Given the description of an element on the screen output the (x, y) to click on. 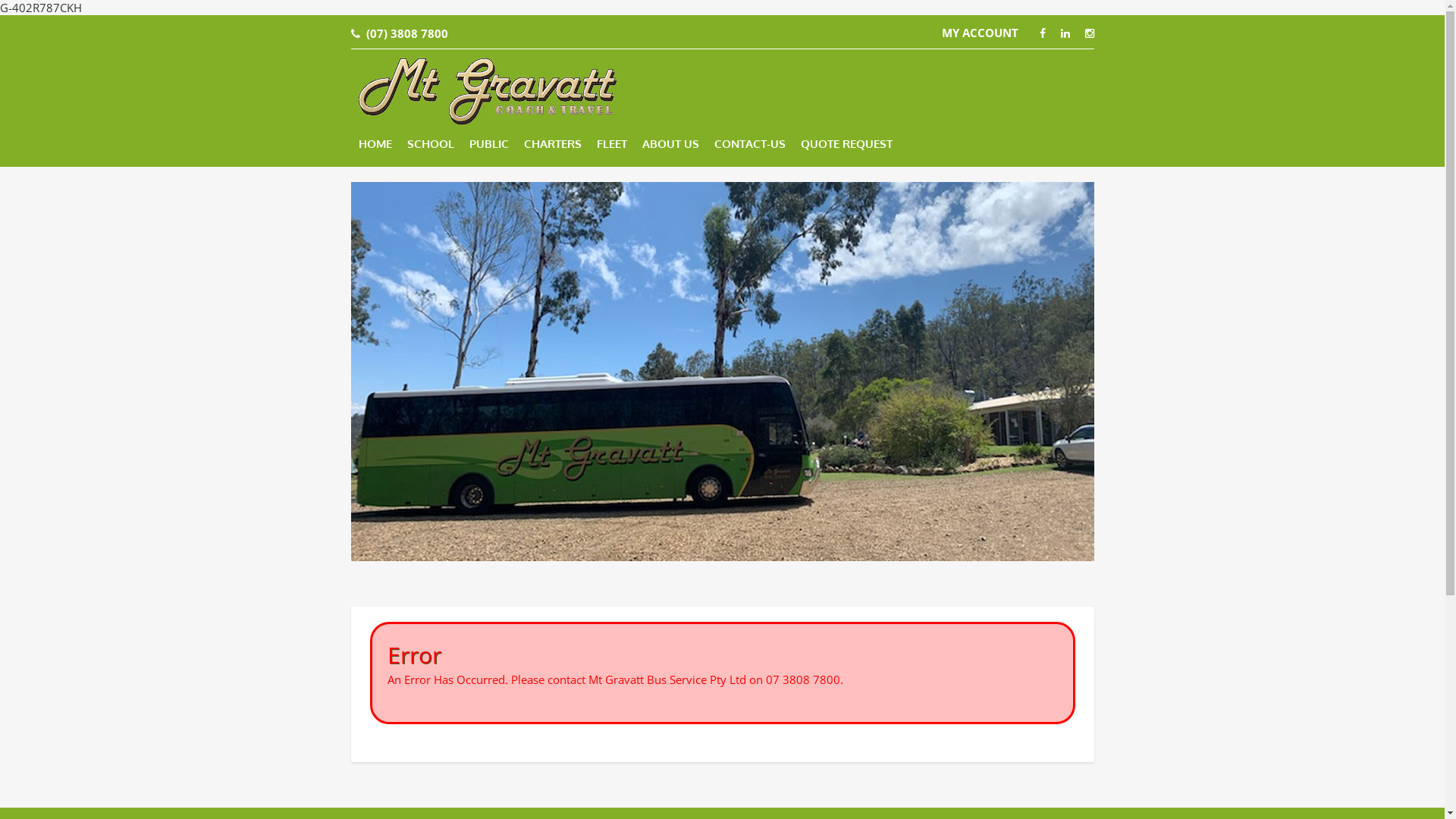
ABOUT US Element type: text (669, 143)
FLEET Element type: text (610, 143)
SCHOOL Element type: text (429, 143)
QUOTE REQUEST Element type: text (846, 143)
Mt Gravatt Bus Service Pty Ltd | Tel: 07 3808 7800 Element type: hover (487, 89)
CHARTERS Element type: text (551, 143)
HOME Element type: text (374, 143)
CONTACT-US Element type: text (749, 143)
MY ACCOUNT Element type: text (979, 32)
PUBLIC Element type: text (488, 143)
